Given the description of an element on the screen output the (x, y) to click on. 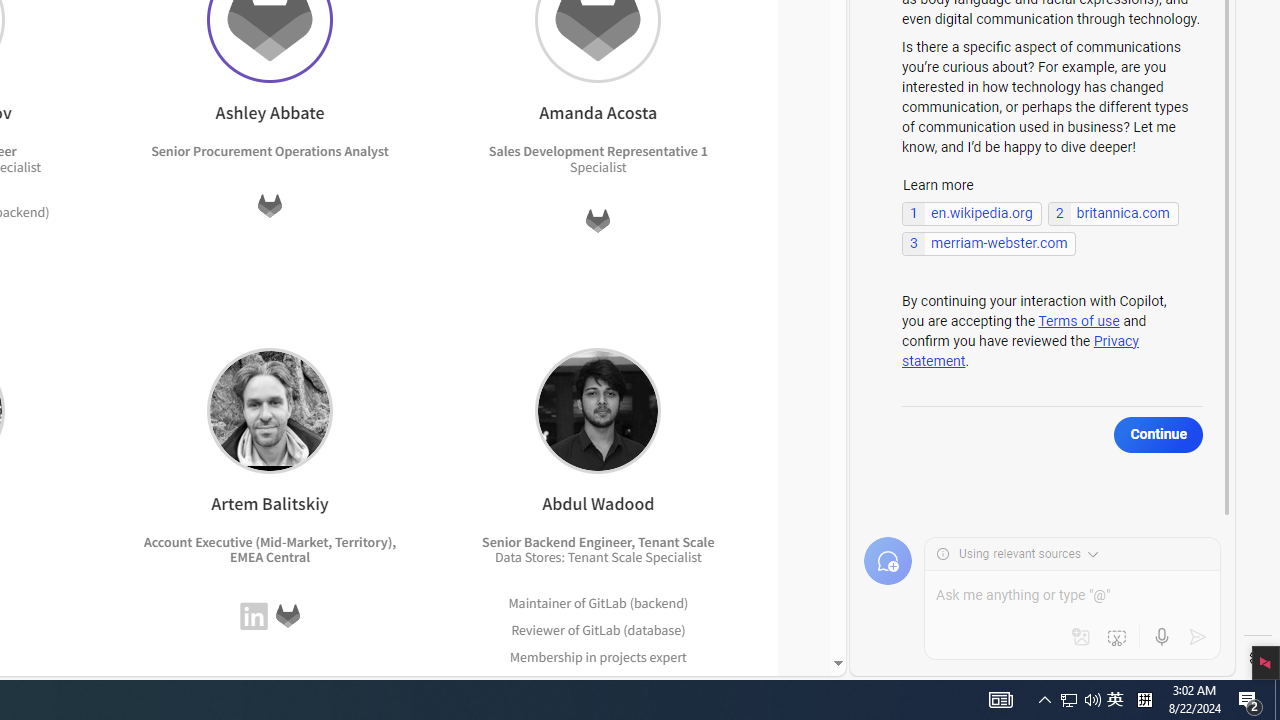
Membership in groups (578, 682)
Account Executive (Mid-Market, Territory), EMEA Central (269, 549)
Senior Procurement Operations Analyst (270, 151)
Reviewer of GitLab (database) (598, 629)
Abdul Wadood (598, 409)
Membership in groups expert (598, 683)
Reviewer (537, 629)
Artem Balitskiy (269, 410)
Membership in projects expert (598, 655)
Senior Backend Engineer (557, 541)
GitLab (601, 629)
Specialist (673, 557)
expert (664, 682)
Abdul Wadood (598, 410)
Membership in projects (577, 656)
